Given the description of an element on the screen output the (x, y) to click on. 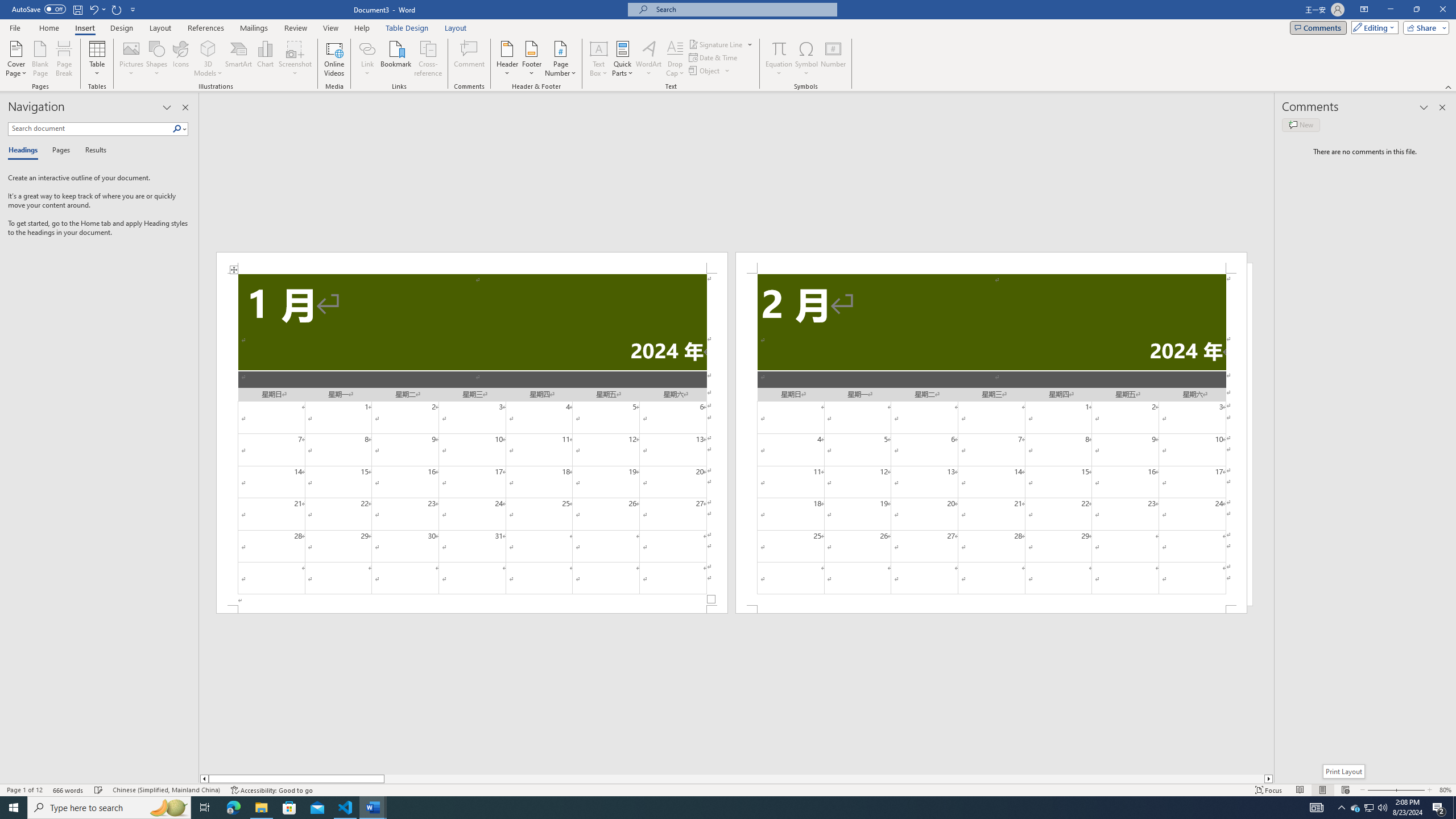
Cross-reference... (428, 58)
Pages (59, 150)
Column left (203, 778)
Bookmark... (396, 58)
Undo Increase Indent (92, 9)
Class: MsoCommandBar (728, 789)
Column right (1268, 778)
Page Number (560, 58)
View (330, 28)
Online Videos... (333, 58)
Web Layout (1344, 790)
Signature Line (721, 44)
Icons (180, 58)
